Given the description of an element on the screen output the (x, y) to click on. 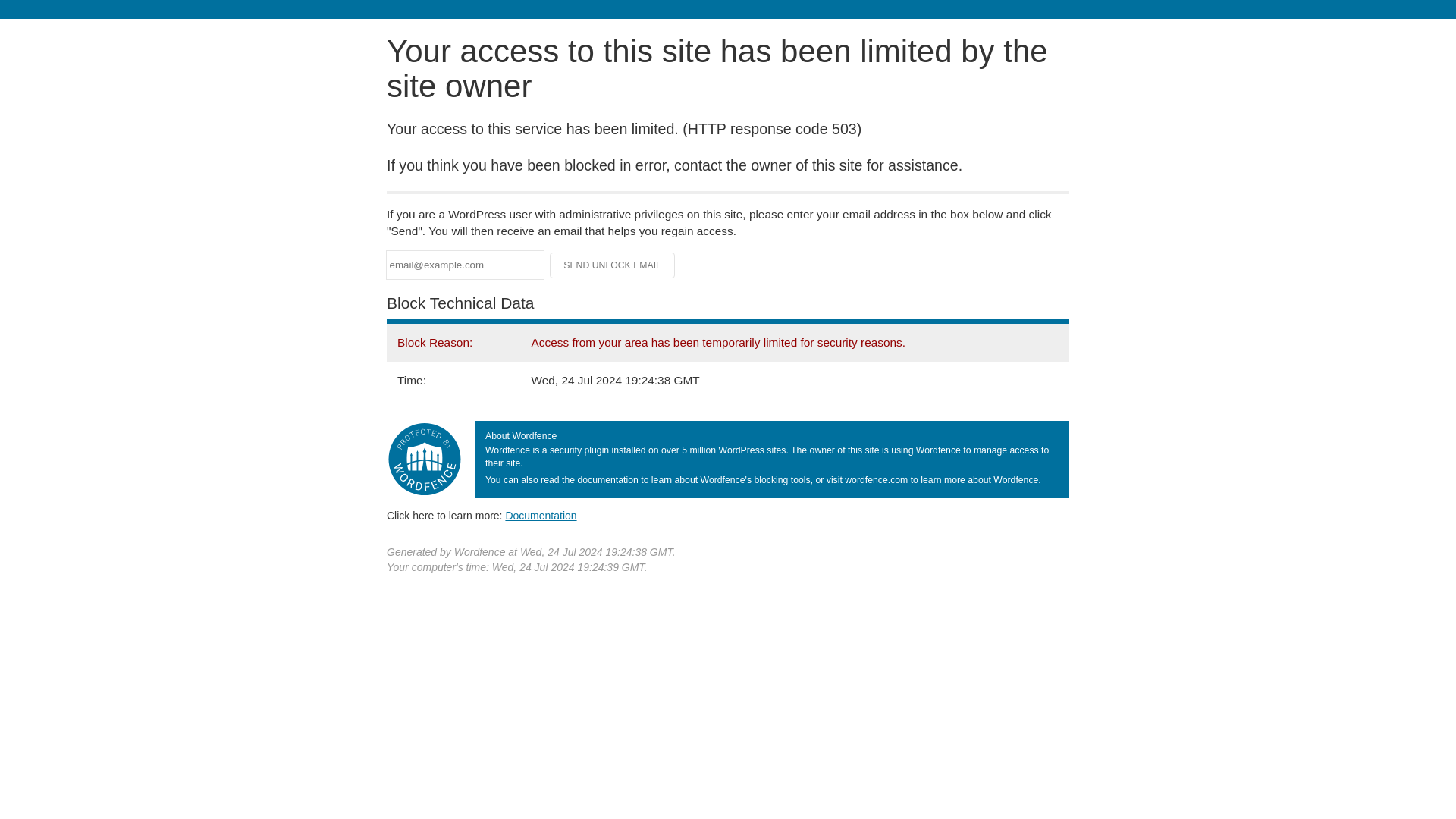
Documentation (540, 515)
Send Unlock Email (612, 265)
Send Unlock Email (612, 265)
